Given the description of an element on the screen output the (x, y) to click on. 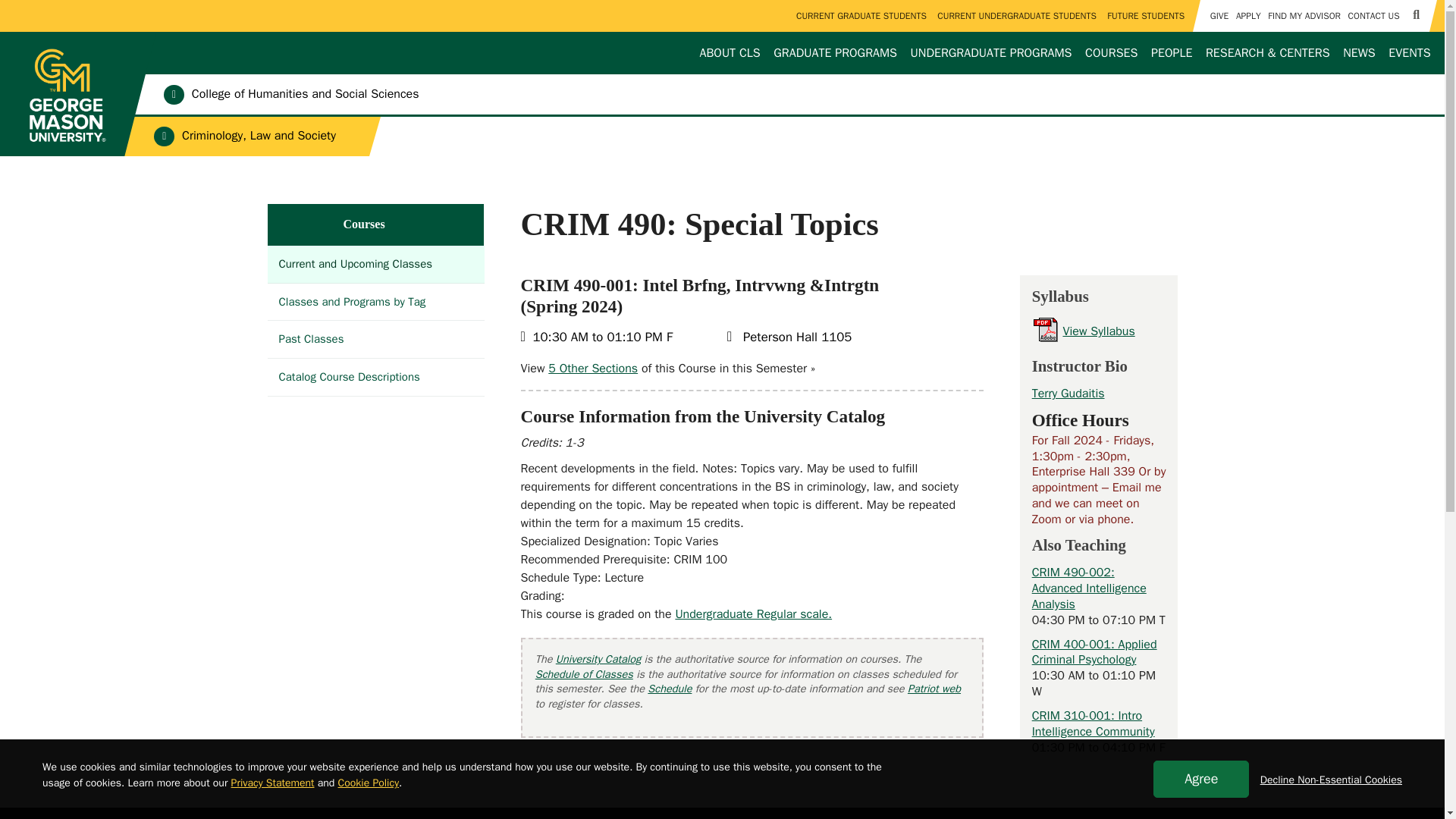
NEWS (1359, 52)
GRADUATE PROGRAMS (835, 52)
Future Students (1146, 15)
Current Undergraduate Students (1017, 15)
PEOPLE (1171, 52)
George Mason University Privacy Statement (272, 782)
Graduate Programs (835, 52)
Enter search terms (722, 14)
Current Graduate Students (861, 15)
About CLS (729, 52)
